Given the description of an element on the screen output the (x, y) to click on. 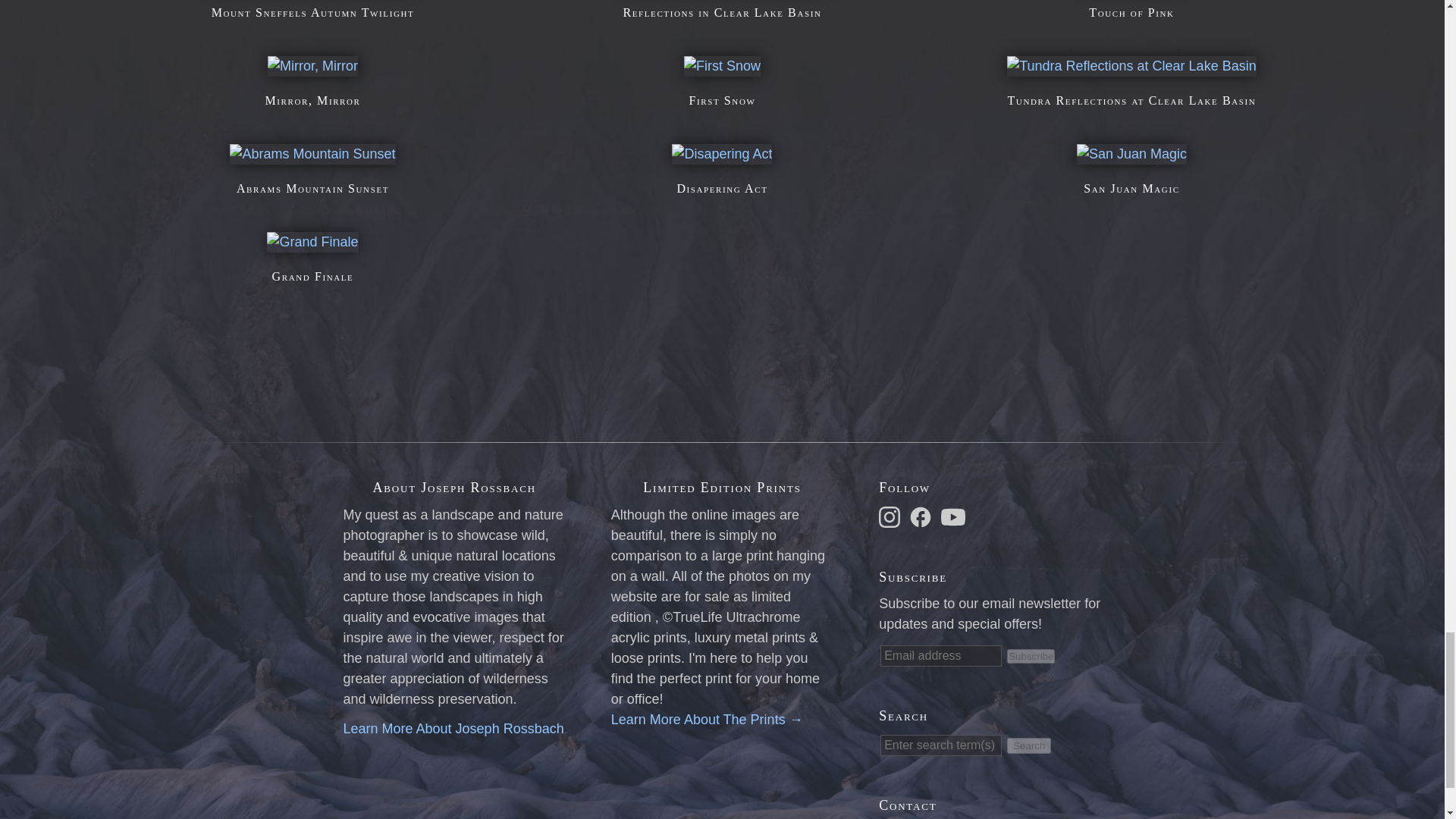
Instagram icon (889, 516)
YouTube icon (952, 517)
Subscribe (1030, 656)
